Given the description of an element on the screen output the (x, y) to click on. 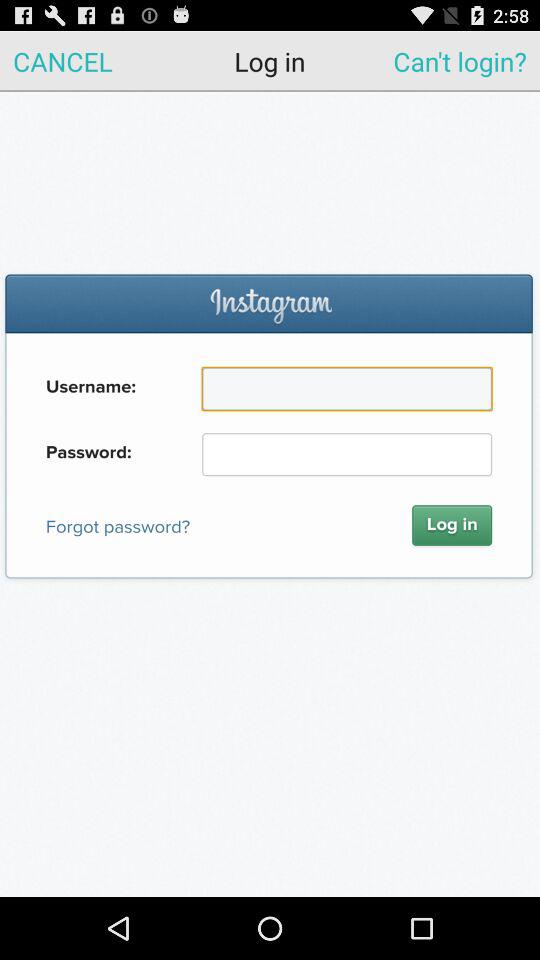
log into instagram (270, 494)
